Given the description of an element on the screen output the (x, y) to click on. 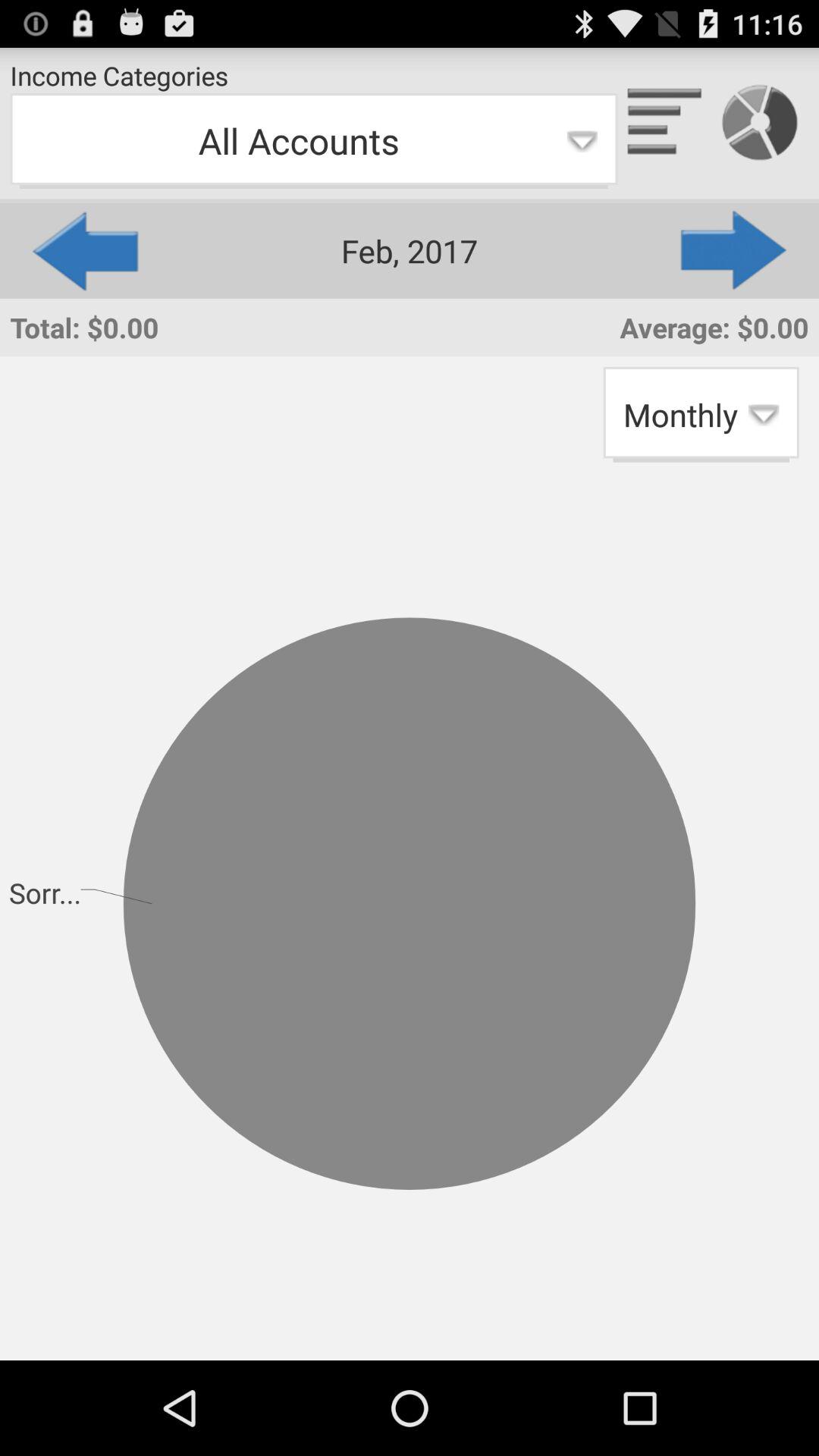
bar graph option (665, 123)
